Given the description of an element on the screen output the (x, y) to click on. 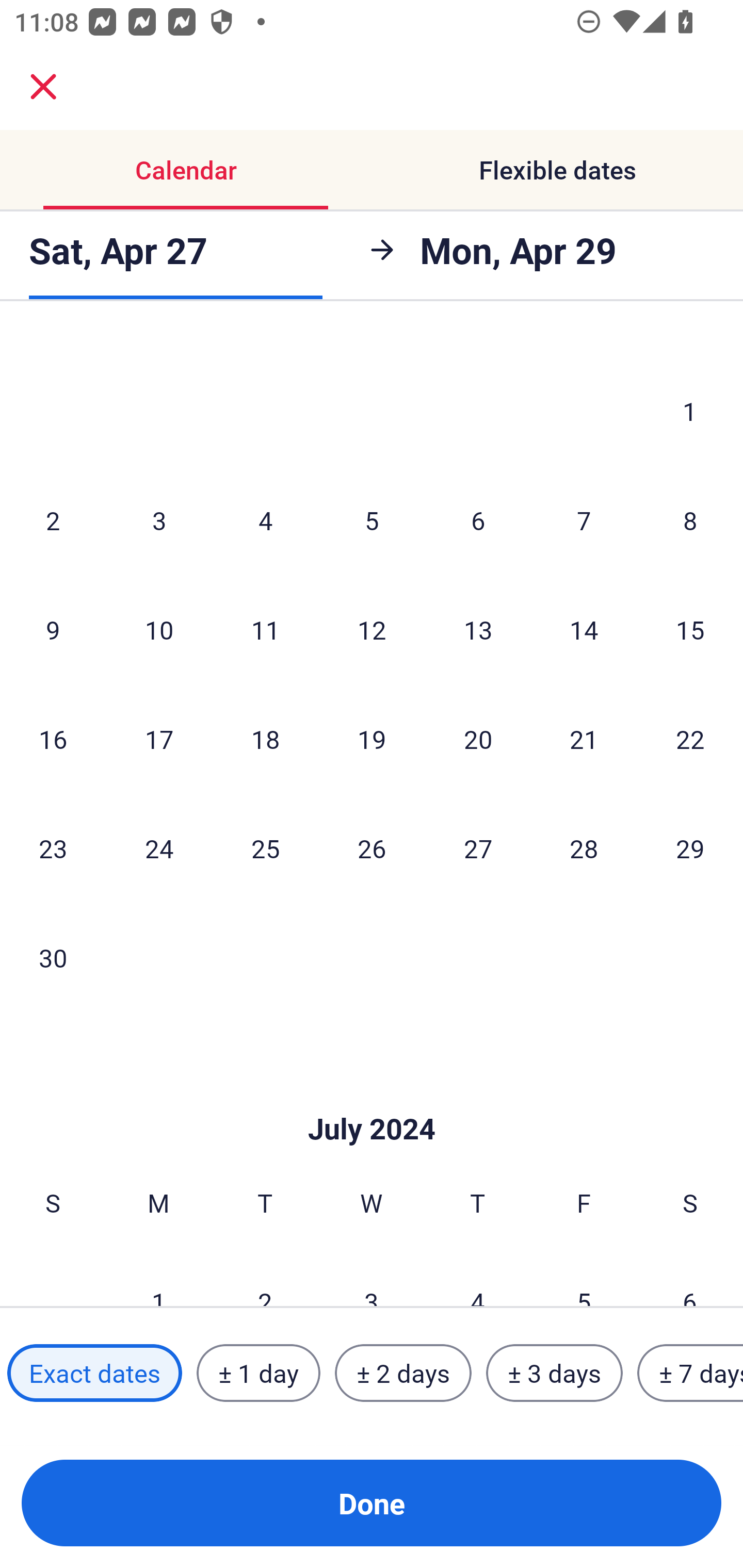
close. (43, 86)
Flexible dates (557, 170)
1 Saturday, June 1, 2024 (689, 410)
2 Sunday, June 2, 2024 (53, 519)
3 Monday, June 3, 2024 (159, 519)
4 Tuesday, June 4, 2024 (265, 519)
5 Wednesday, June 5, 2024 (371, 519)
6 Thursday, June 6, 2024 (477, 519)
7 Friday, June 7, 2024 (584, 519)
8 Saturday, June 8, 2024 (690, 519)
9 Sunday, June 9, 2024 (53, 629)
10 Monday, June 10, 2024 (159, 629)
11 Tuesday, June 11, 2024 (265, 629)
12 Wednesday, June 12, 2024 (371, 629)
13 Thursday, June 13, 2024 (477, 629)
14 Friday, June 14, 2024 (584, 629)
15 Saturday, June 15, 2024 (690, 629)
16 Sunday, June 16, 2024 (53, 738)
17 Monday, June 17, 2024 (159, 738)
18 Tuesday, June 18, 2024 (265, 738)
19 Wednesday, June 19, 2024 (371, 738)
20 Thursday, June 20, 2024 (477, 738)
21 Friday, June 21, 2024 (584, 738)
22 Saturday, June 22, 2024 (690, 738)
23 Sunday, June 23, 2024 (53, 847)
24 Monday, June 24, 2024 (159, 847)
25 Tuesday, June 25, 2024 (265, 847)
26 Wednesday, June 26, 2024 (371, 847)
27 Thursday, June 27, 2024 (477, 847)
28 Friday, June 28, 2024 (584, 847)
29 Saturday, June 29, 2024 (690, 847)
30 Sunday, June 30, 2024 (53, 956)
Skip to Done (371, 1098)
Exact dates (94, 1372)
± 1 day (258, 1372)
± 2 days (403, 1372)
± 3 days (553, 1372)
± 7 days (690, 1372)
Done (371, 1502)
